Given the description of an element on the screen output the (x, y) to click on. 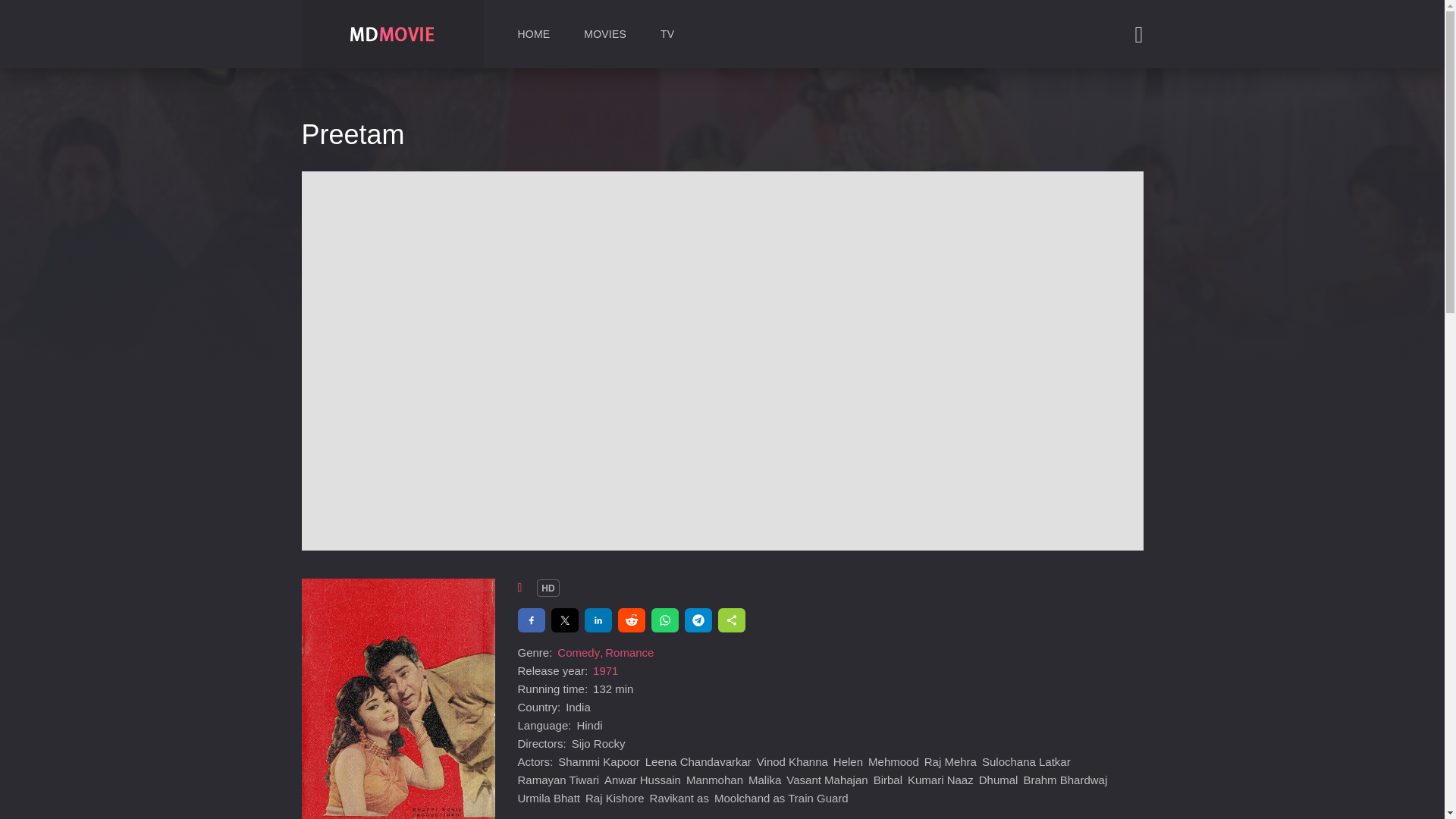
Romance (629, 652)
1971 (604, 670)
SEARCH (1093, 46)
Comedy (578, 652)
